Given the description of an element on the screen output the (x, y) to click on. 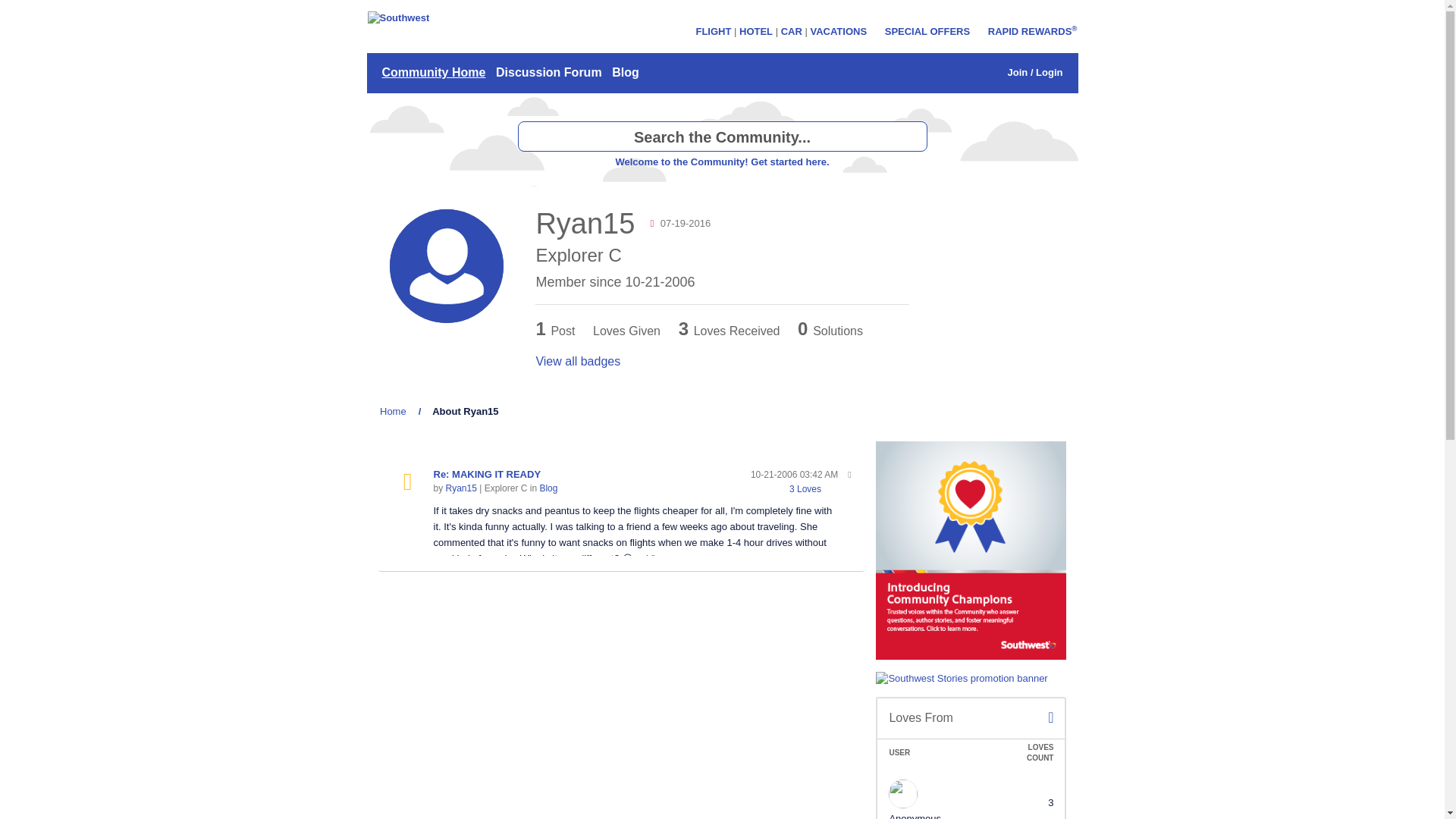
Posted on (794, 474)
FLIGHT (712, 30)
Ryan15 (461, 488)
Search (911, 136)
Community Home (433, 73)
Home (393, 410)
CAR (791, 30)
Welcome to the Community! Get started here. (721, 161)
3 Loves (805, 489)
SPECIAL OFFERS (927, 30)
Search (911, 136)
Search (721, 136)
Blog (547, 488)
Discussion Forum (548, 73)
... View more (663, 558)
